Given the description of an element on the screen output the (x, y) to click on. 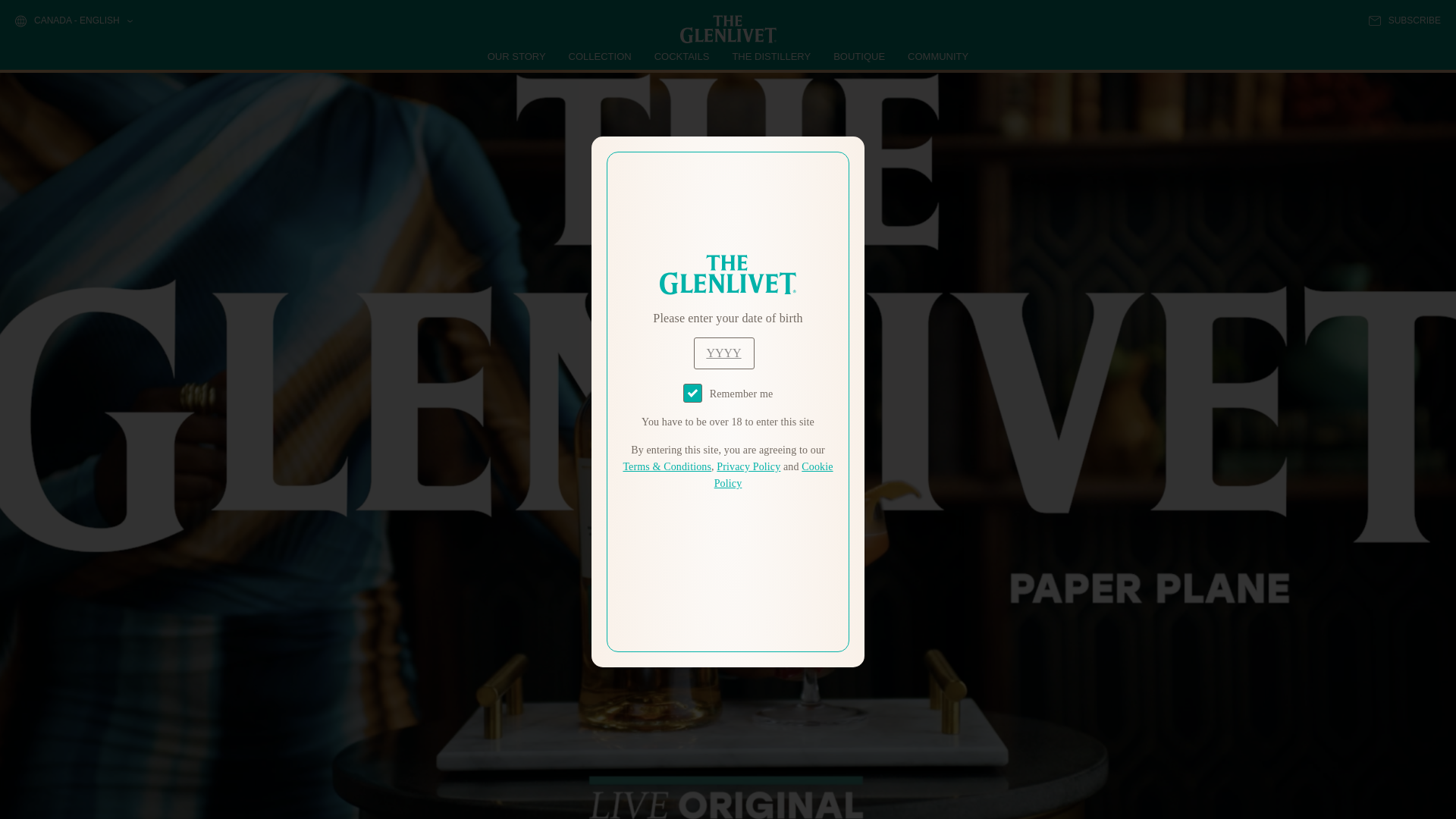
Cookie Policy (773, 474)
SUBSCRIBE (1404, 20)
year (723, 353)
THE DISTILLERY (771, 56)
COCKTAILS (681, 56)
Privacy Policy (748, 466)
COLLECTION (600, 56)
CANADA - ENGLISH (73, 21)
COMMUNITY (937, 56)
OUR STORY (516, 56)
